Given the description of an element on the screen output the (x, y) to click on. 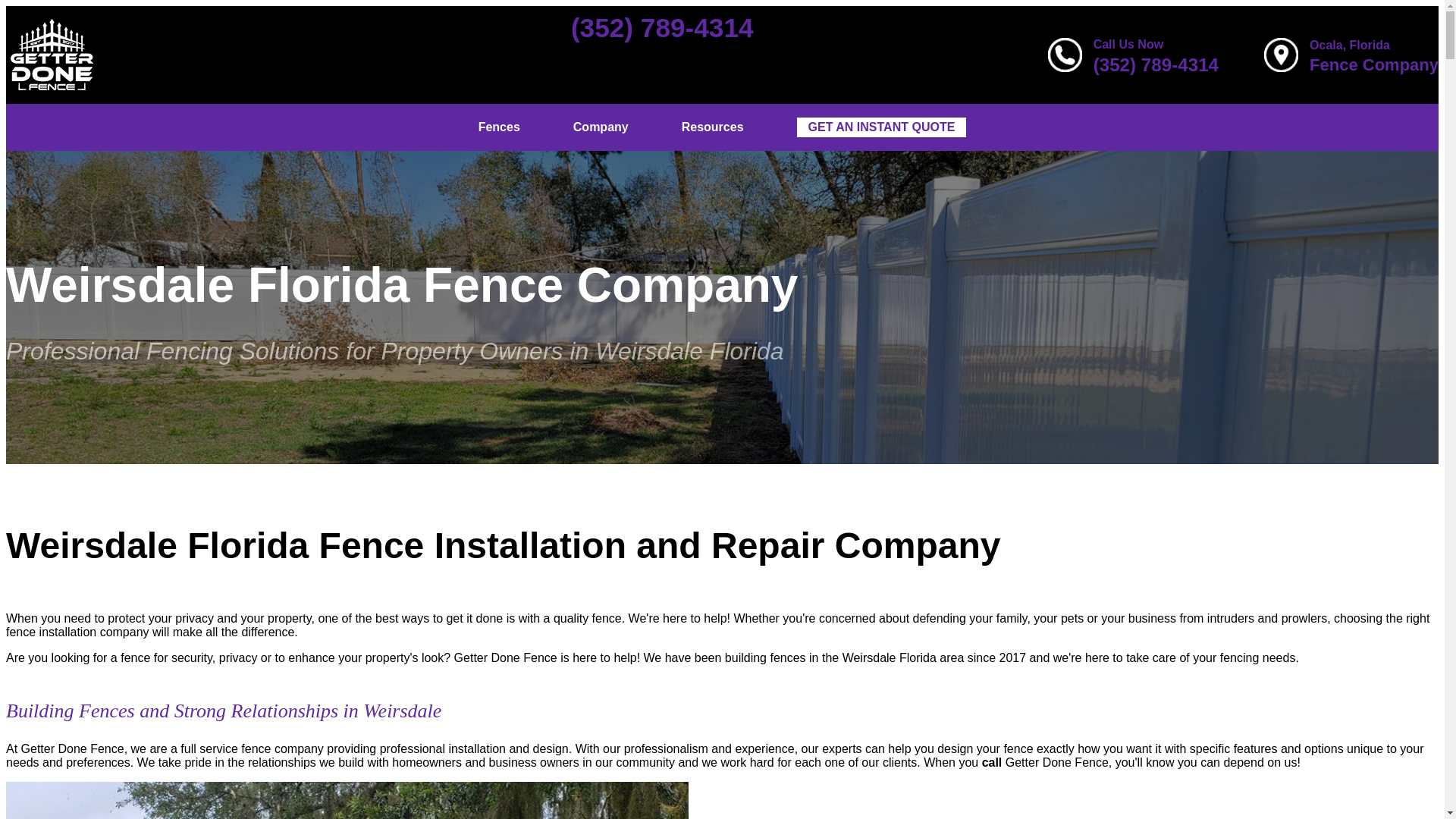
Resources (712, 127)
Company (600, 127)
Fences (499, 127)
